Given the description of an element on the screen output the (x, y) to click on. 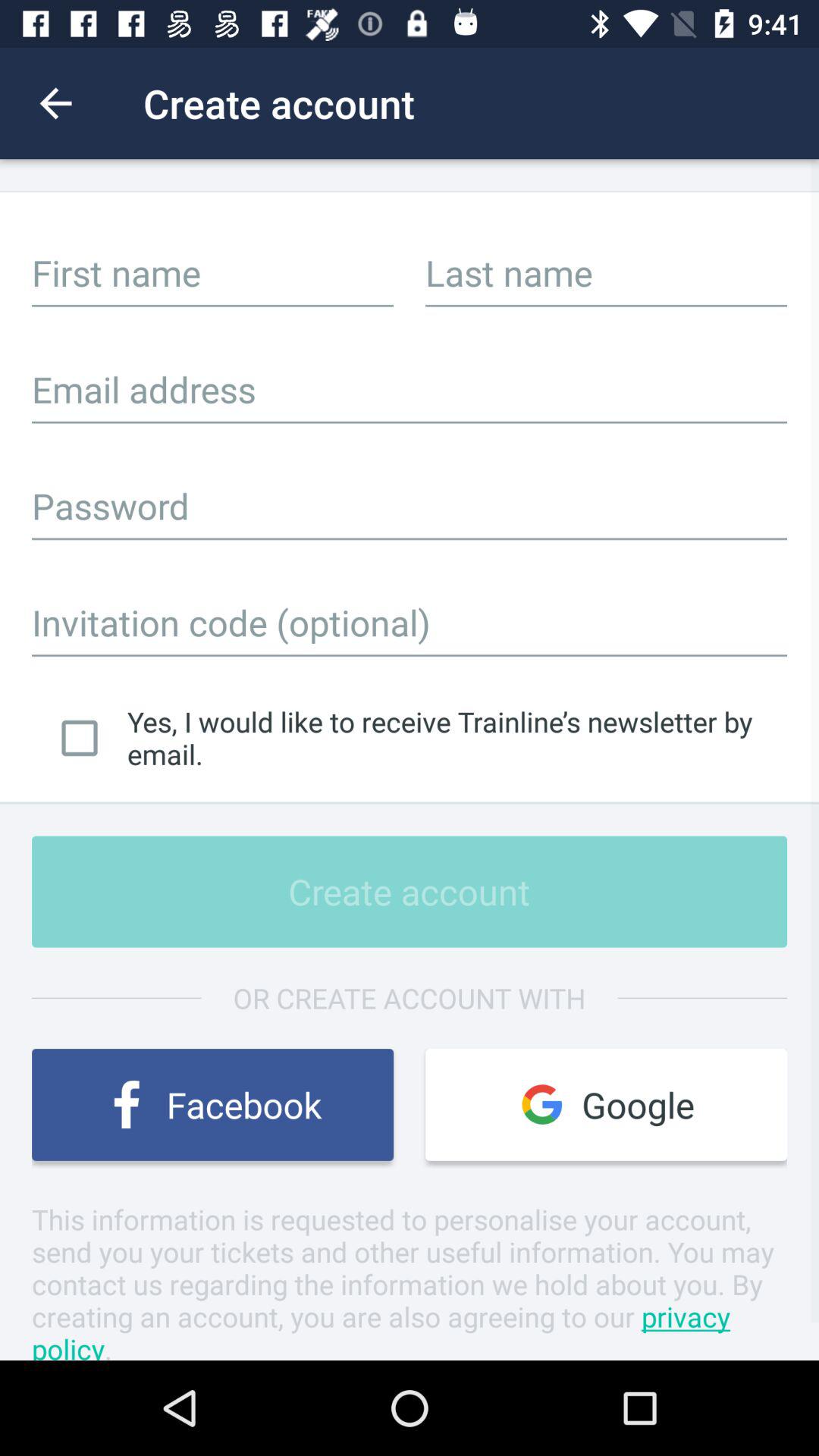
insert invitation code (409, 622)
